Given the description of an element on the screen output the (x, y) to click on. 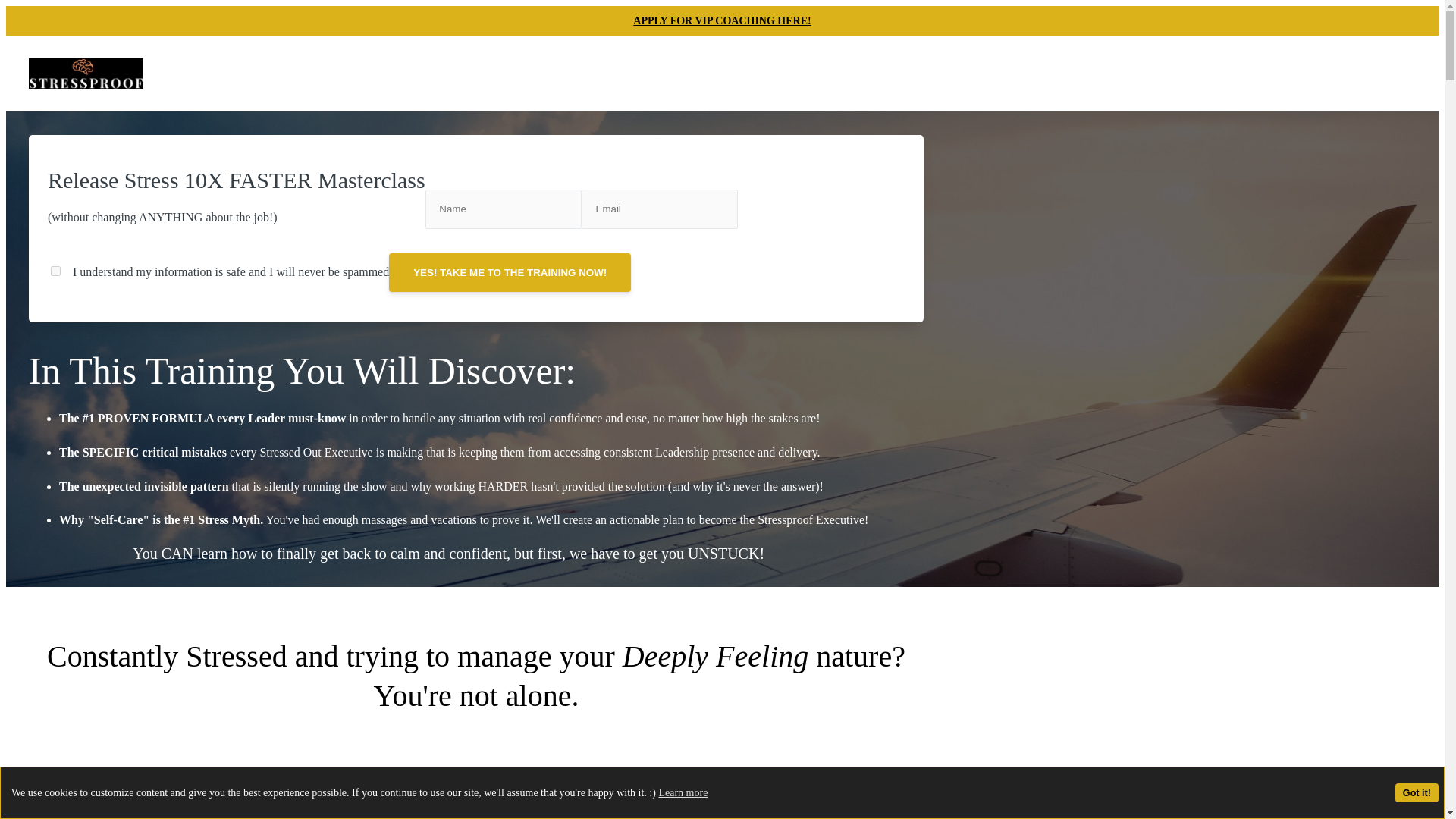
1 (55, 271)
Podcast (665, 73)
Resources (727, 73)
Work With Me (528, 73)
Reviews (848, 73)
Contact (790, 73)
Login (900, 73)
Coaching (605, 73)
Learn more (682, 792)
YES! TAKE ME TO THE TRAINING NOW! (509, 272)
About (457, 73)
